Given the description of an element on the screen output the (x, y) to click on. 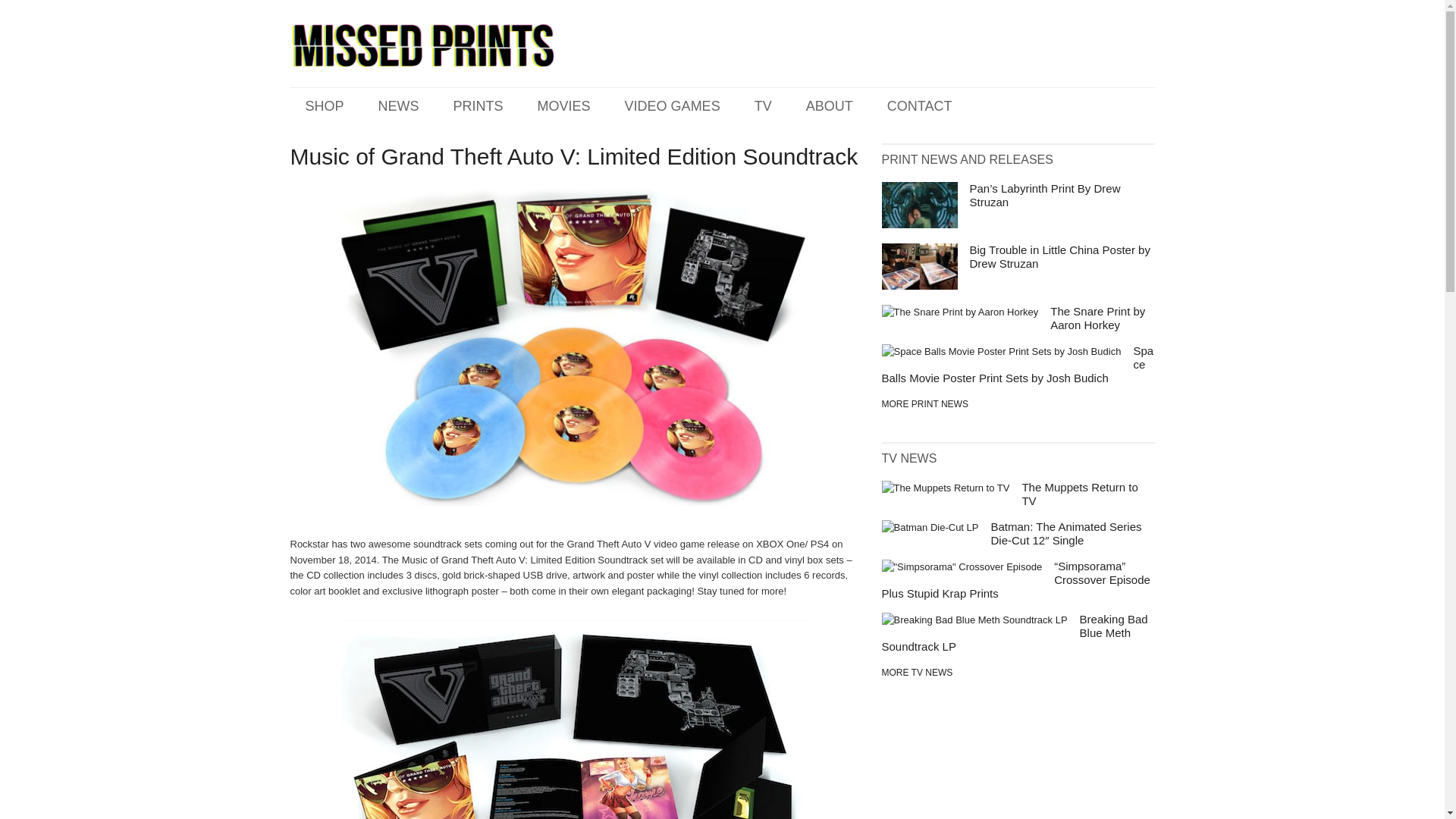
NEWS (398, 105)
The Snare Print by Aaron Horkey (1096, 317)
MORE PRINT NEWS (924, 403)
TV (762, 105)
MOVIES (563, 105)
Missed Prints (421, 45)
TV (916, 672)
PRINTS (478, 105)
Space Balls Movie Poster Print Sets by Josh Budich (1016, 363)
SHOP (324, 105)
